Given the description of an element on the screen output the (x, y) to click on. 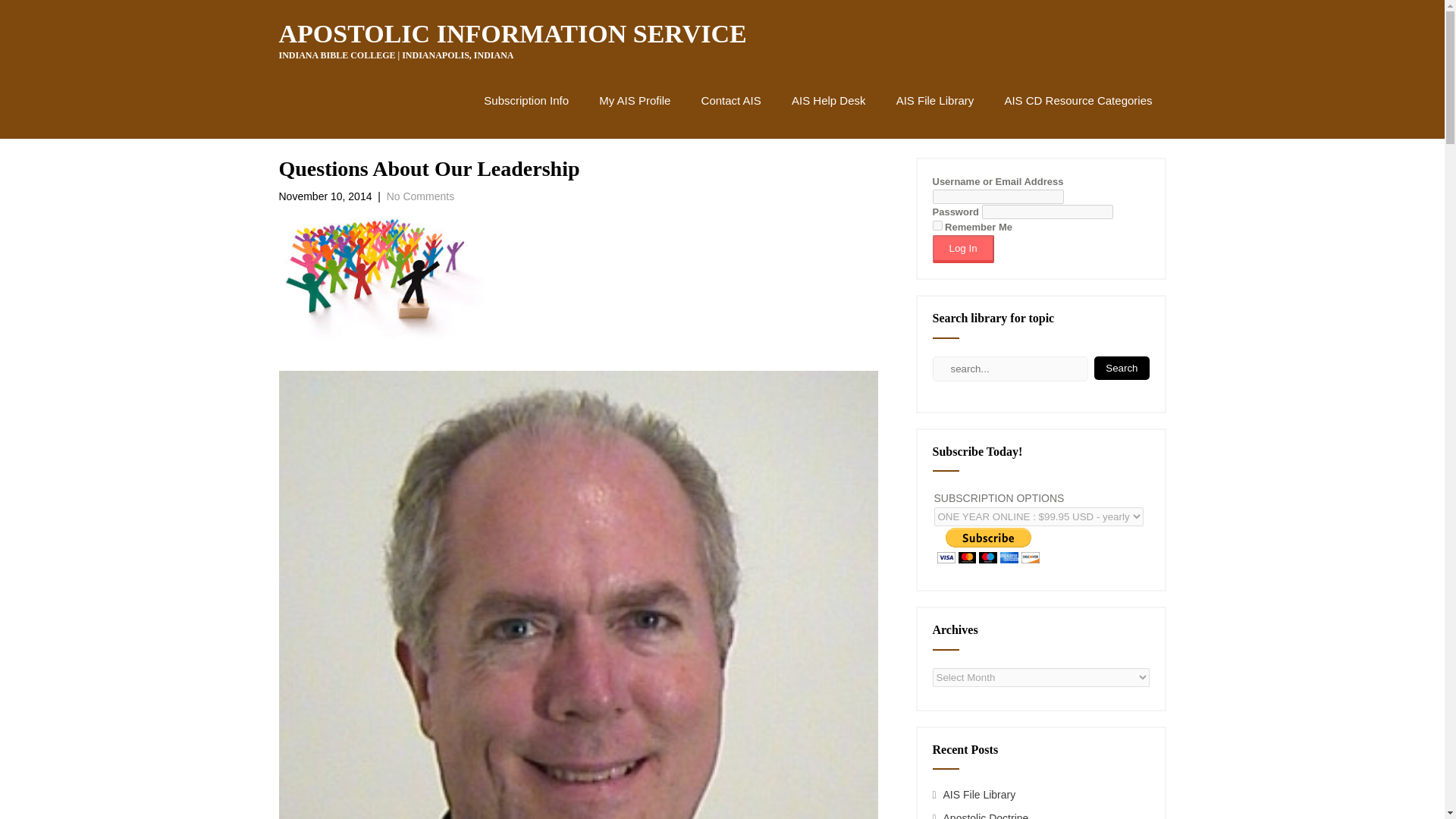
Subscription Info (526, 100)
Log In (963, 248)
Log In (963, 248)
forever (937, 225)
AIS CD Resource Categories (1078, 100)
Contact AIS (730, 100)
AIS File Library (979, 794)
AIS Help Desk (828, 100)
Search (1121, 368)
Search (1121, 368)
